Given the description of an element on the screen output the (x, y) to click on. 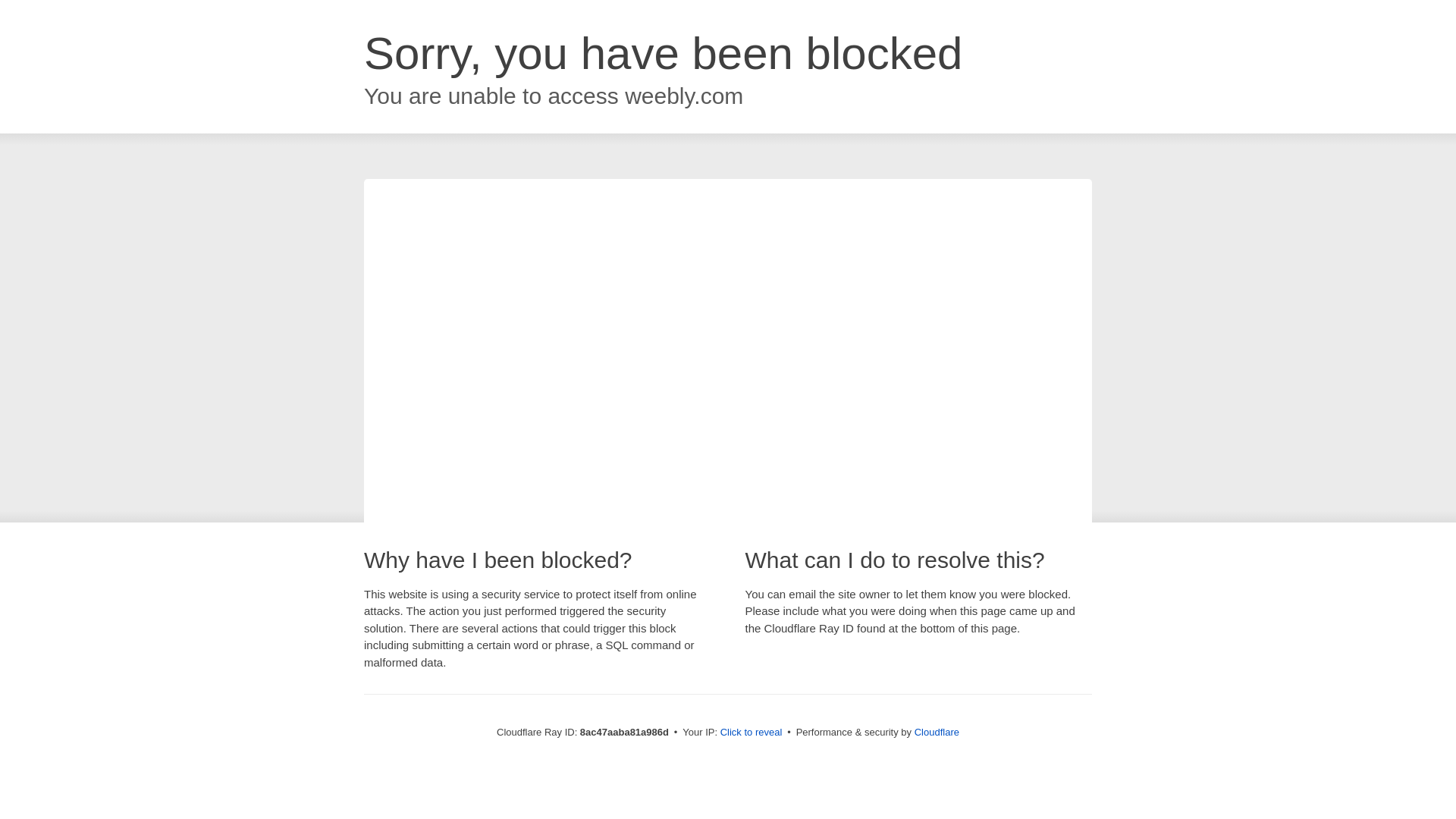
Cloudflare (936, 731)
Click to reveal (751, 732)
